Given the description of an element on the screen output the (x, y) to click on. 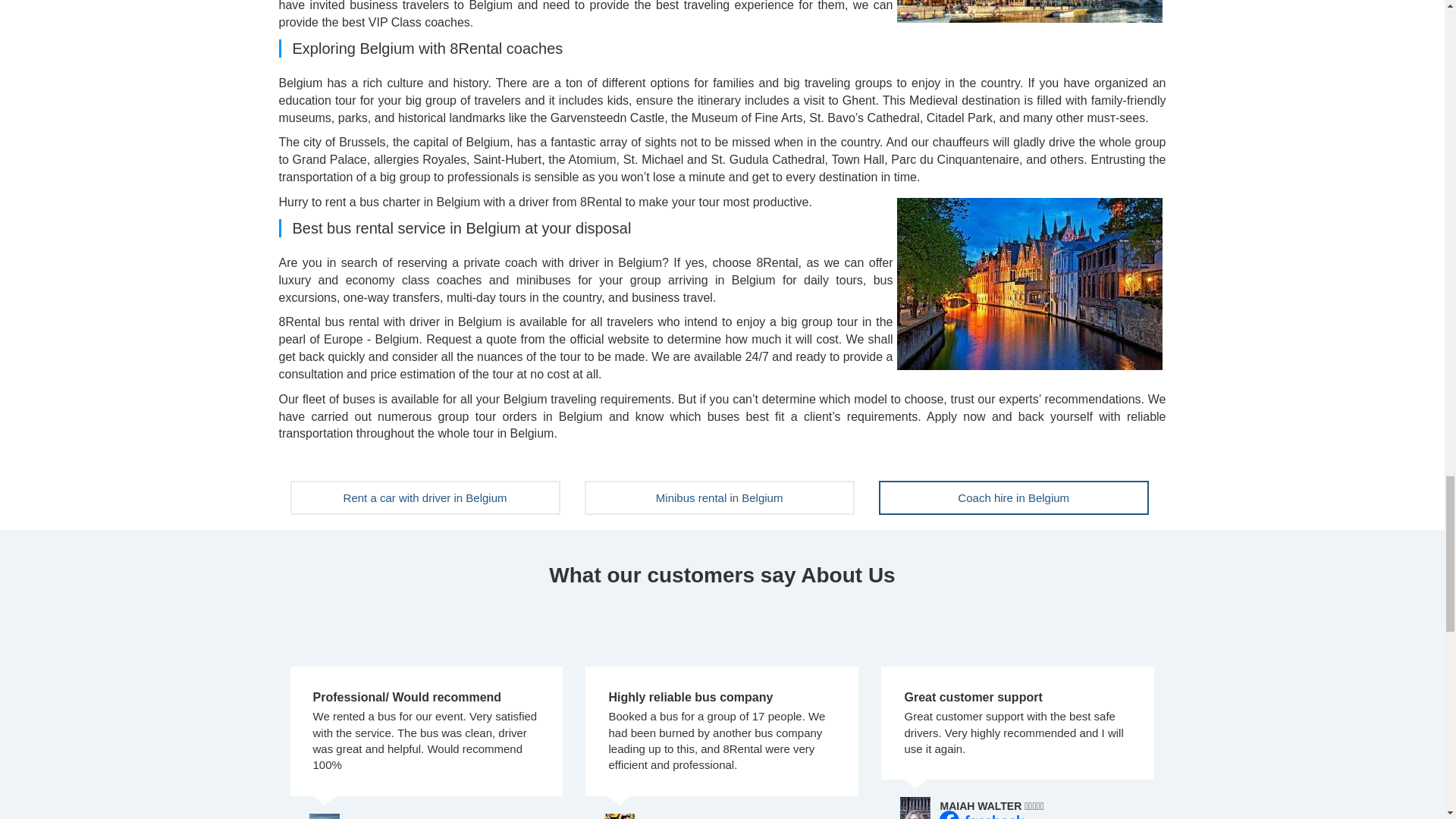
rent a minibus in Belgium photo country 3 (1028, 284)
Coach hire in Belgium (1013, 497)
Rent a car with driver in Belgium (424, 497)
car service in Belgium photo 2 (1028, 11)
Minibus rental in Belgium (719, 497)
